Given the description of an element on the screen output the (x, y) to click on. 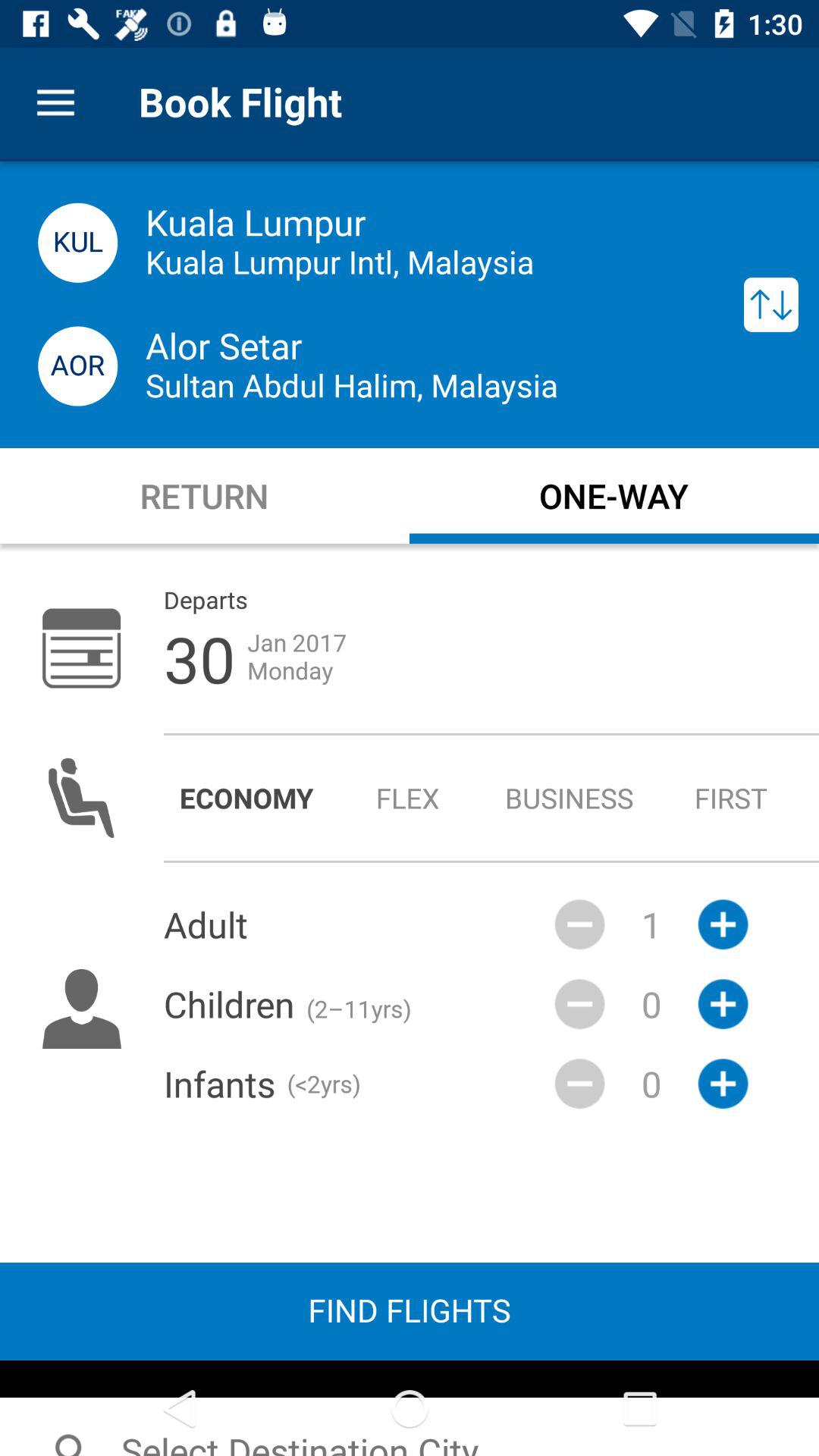
press item to the right of flex item (569, 797)
